Given the description of an element on the screen output the (x, y) to click on. 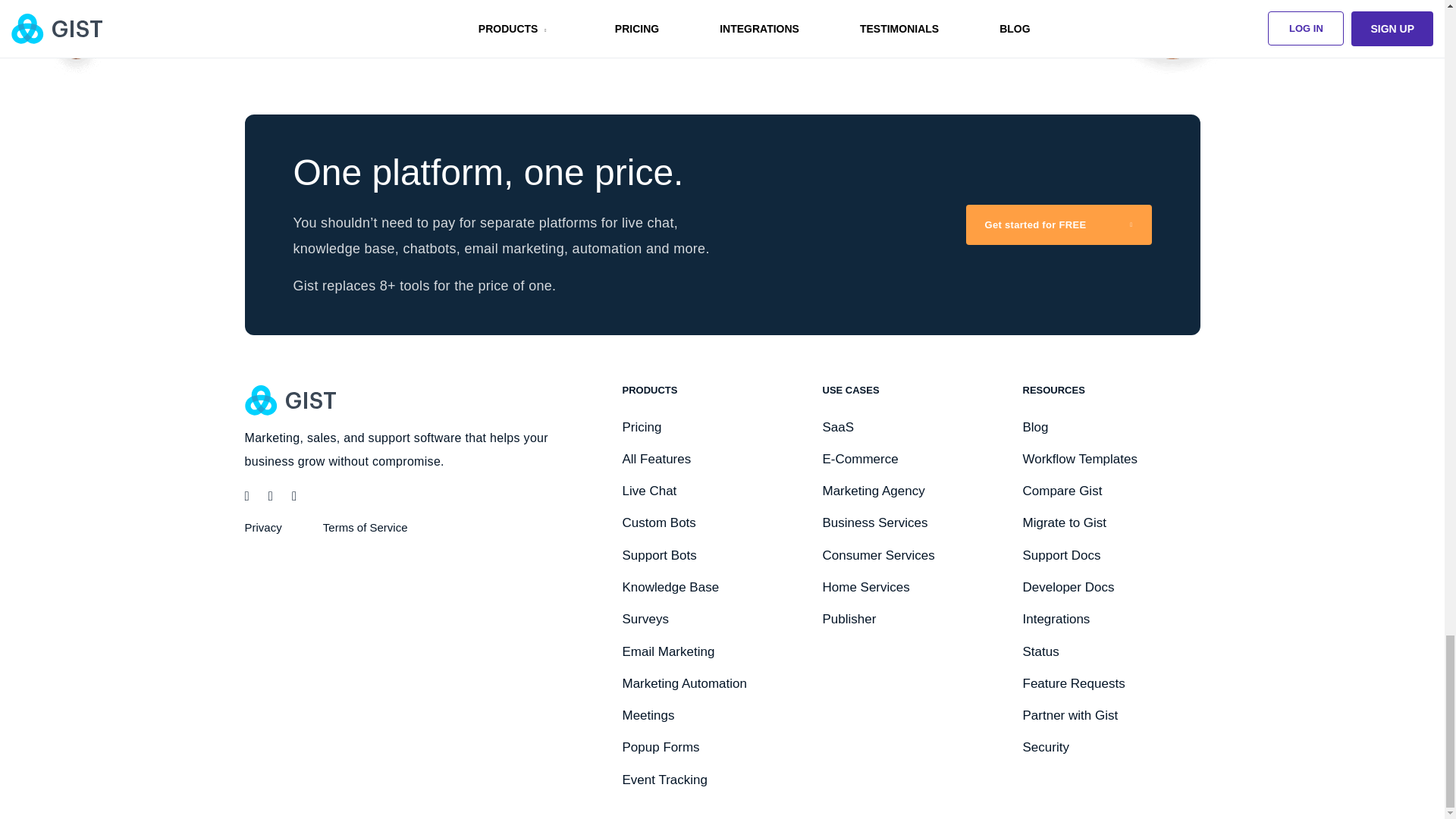
Get started for FREE (1058, 224)
